Given the description of an element on the screen output the (x, y) to click on. 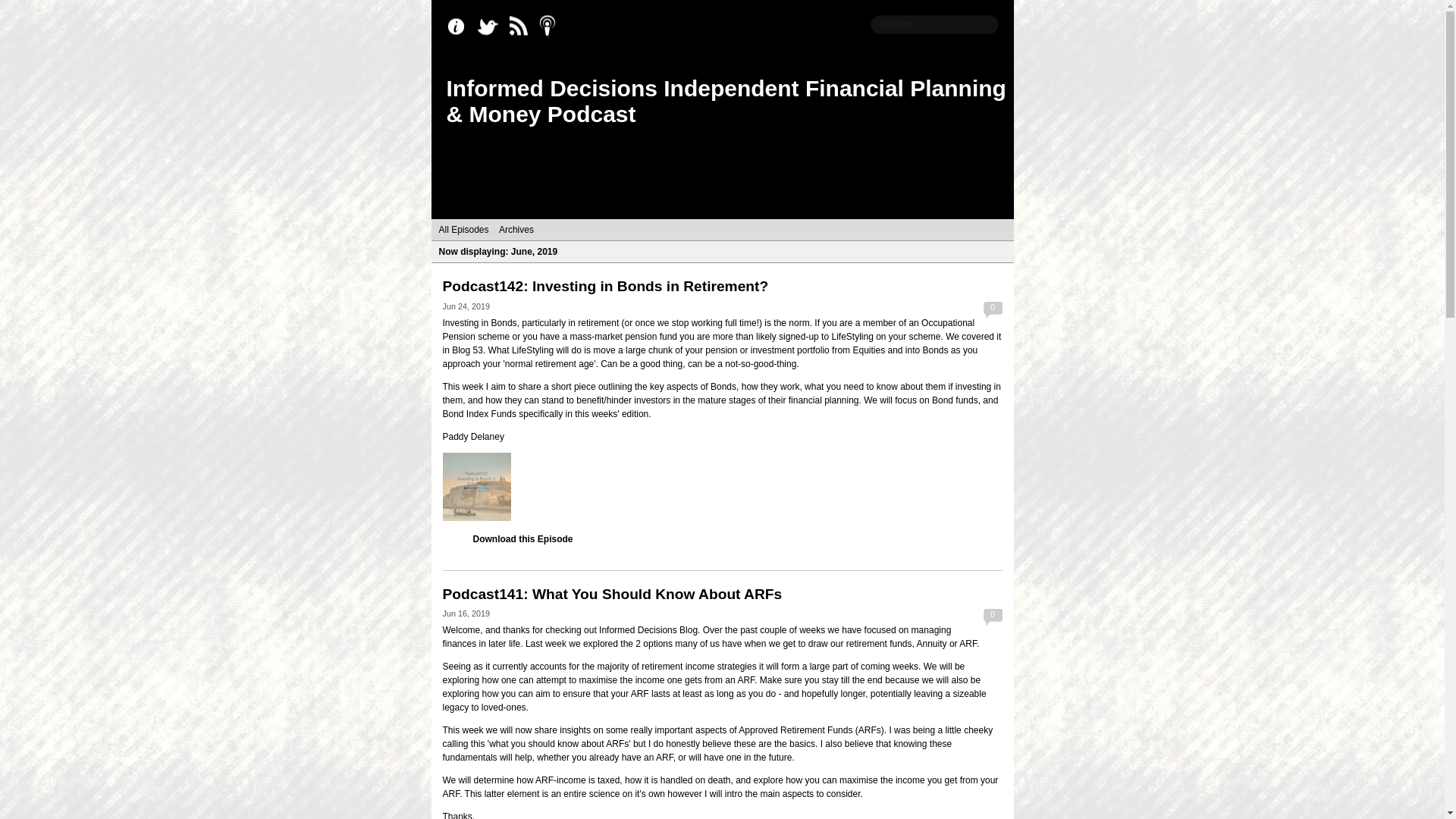
Twitter (491, 26)
Subscribe in Apple Podcasts (552, 26)
Libsyn Player (722, 486)
RSS Feed (521, 26)
